Given the description of an element on the screen output the (x, y) to click on. 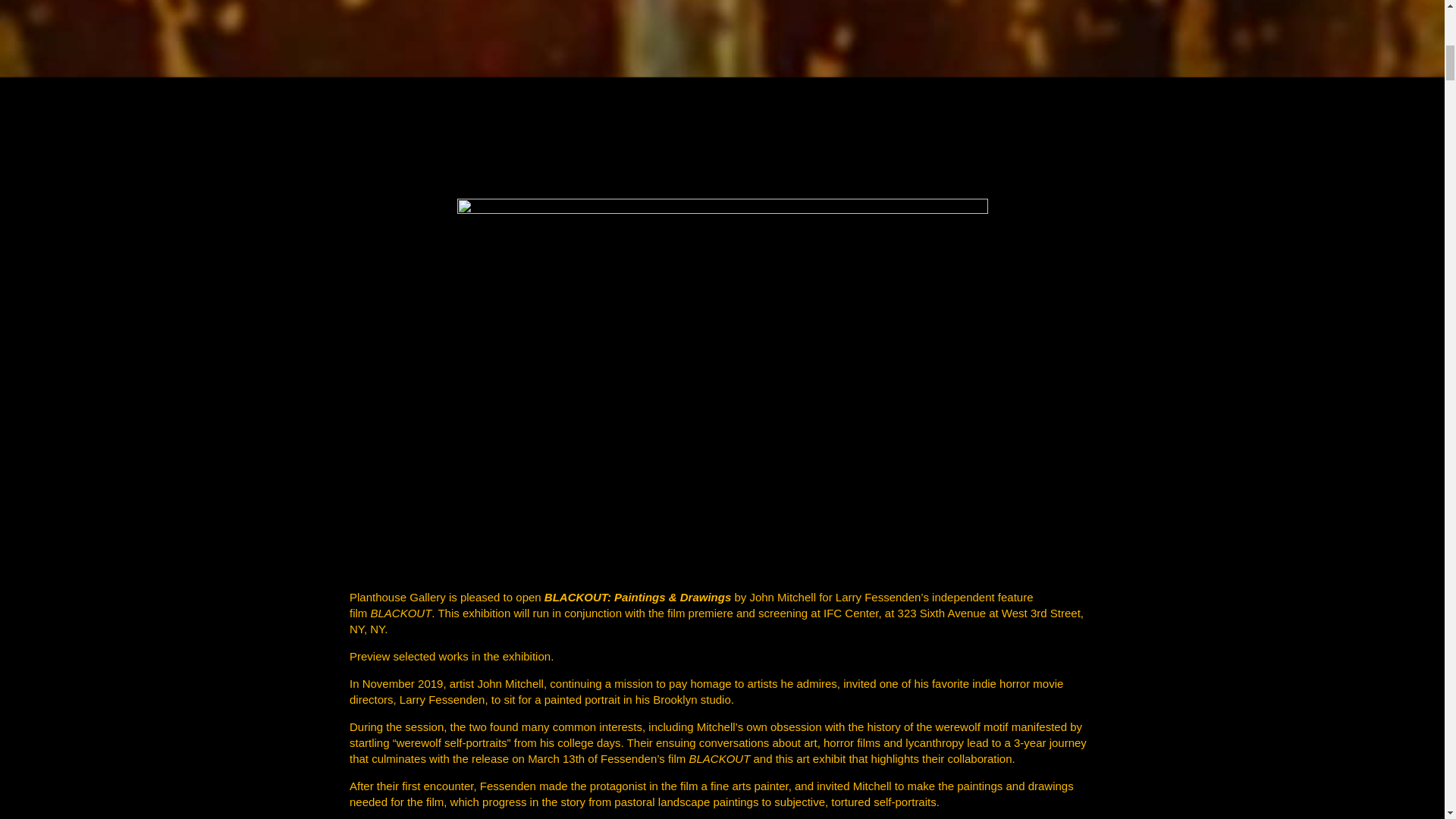
Preview selected works in the exhibition. (451, 656)
